Given the description of an element on the screen output the (x, y) to click on. 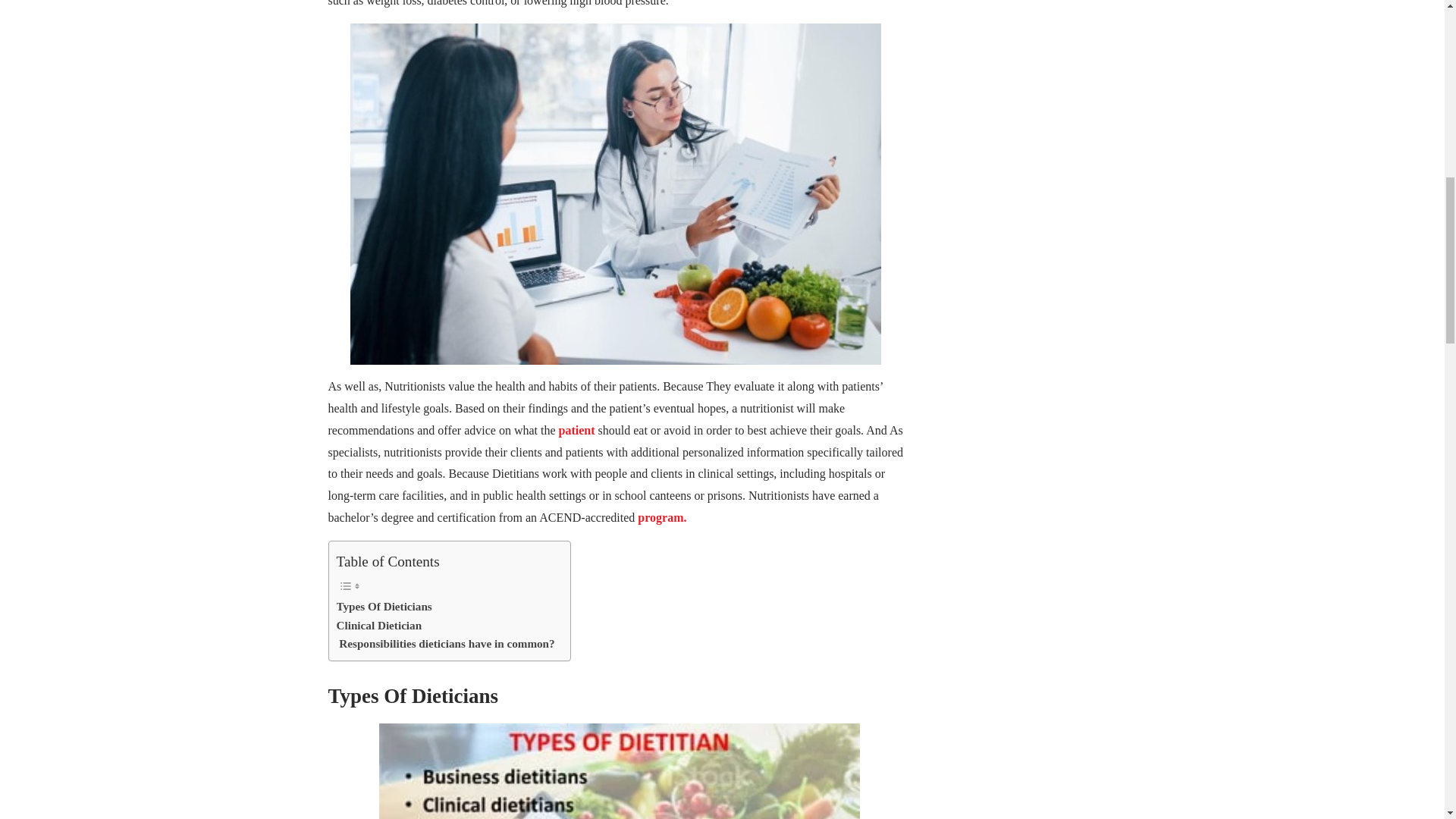
Types Of Dieticians (384, 606)
Clinical Dietician (379, 625)
